Given the description of an element on the screen output the (x, y) to click on. 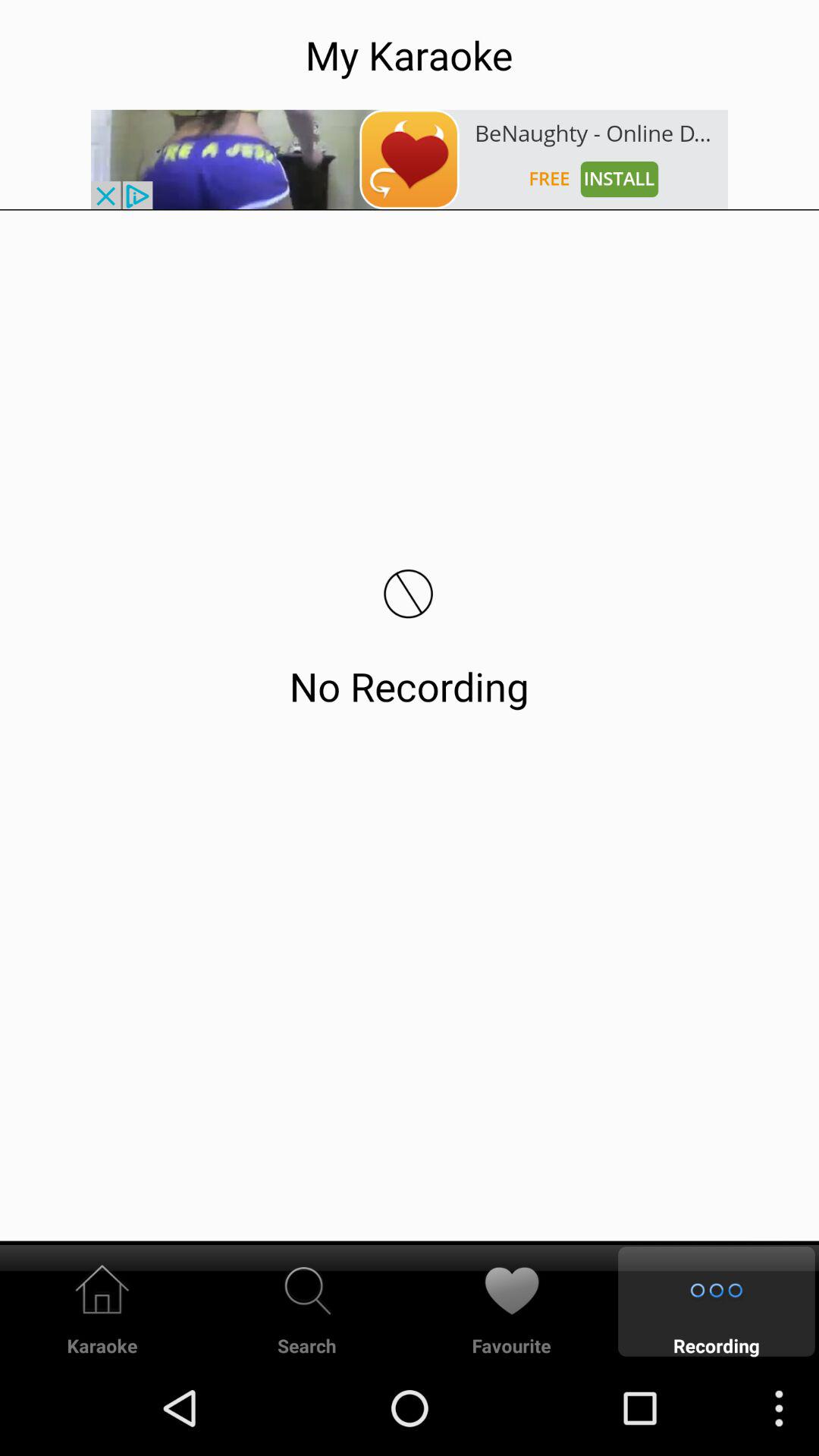
go to advertising partner (409, 159)
